Given the description of an element on the screen output the (x, y) to click on. 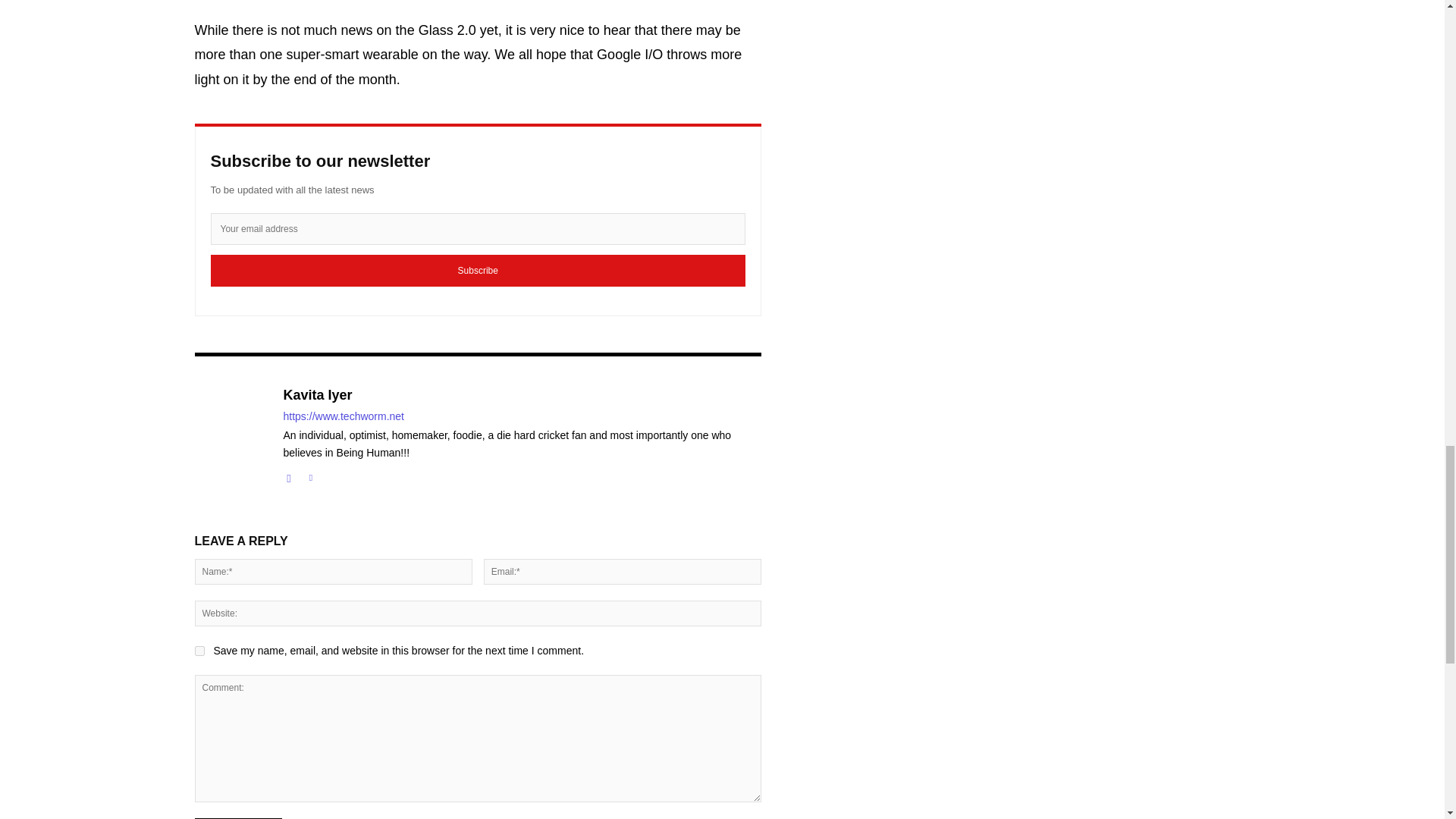
Subscribe (478, 270)
Facebook (289, 474)
yes (198, 651)
Twitter (309, 474)
Kavita Iyer (522, 395)
